Given the description of an element on the screen output the (x, y) to click on. 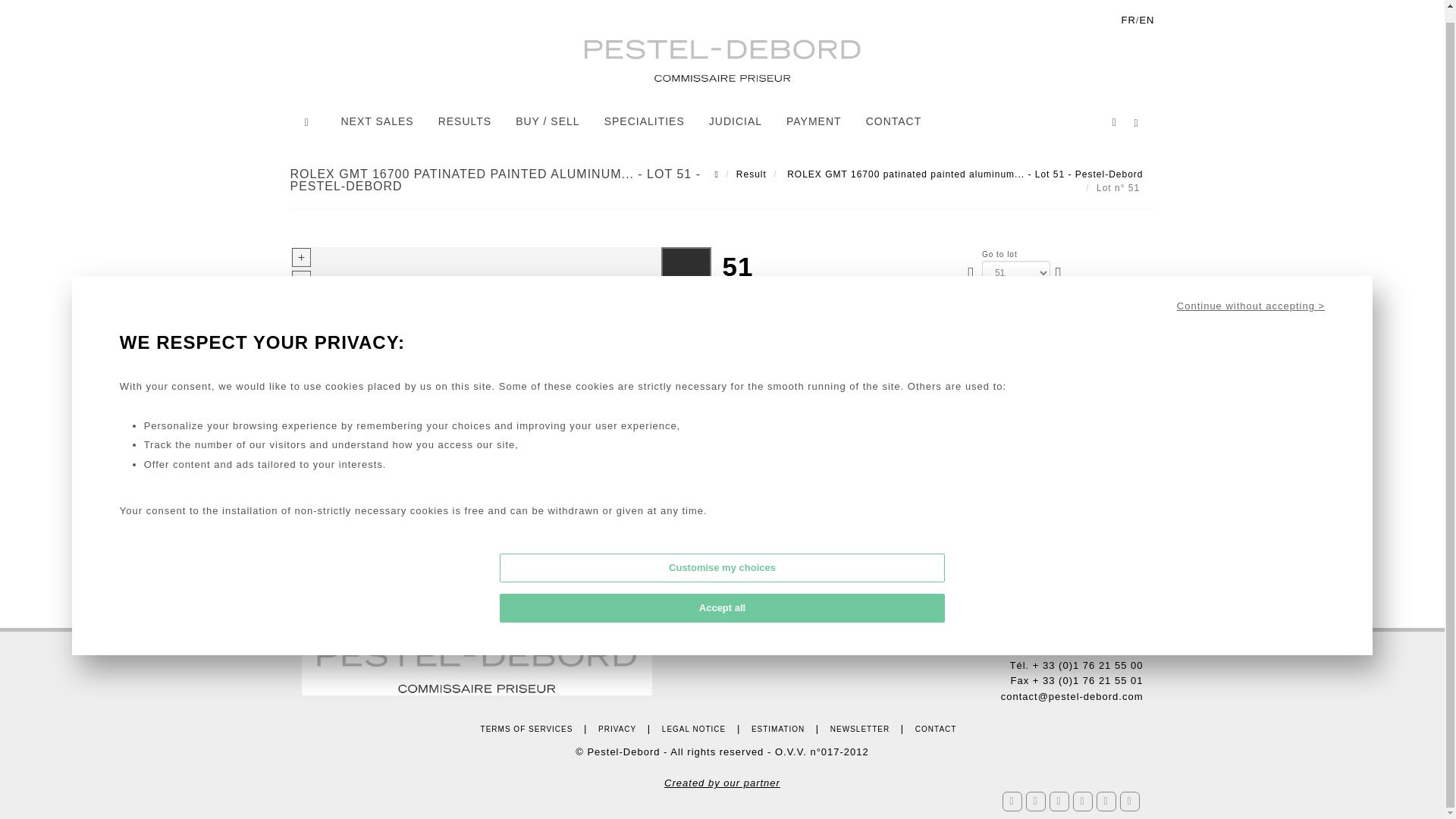
CONTACT (893, 122)
FR (1128, 19)
RESULTS (464, 122)
EN (1146, 19)
SALE INFORMATION (931, 463)
SALES CONDITIONS (931, 486)
Result (751, 173)
JUDICIAL (735, 122)
PAYMENT (813, 122)
NEXT SALES (377, 122)
SPECIALITIES (643, 122)
